Given the description of an element on the screen output the (x, y) to click on. 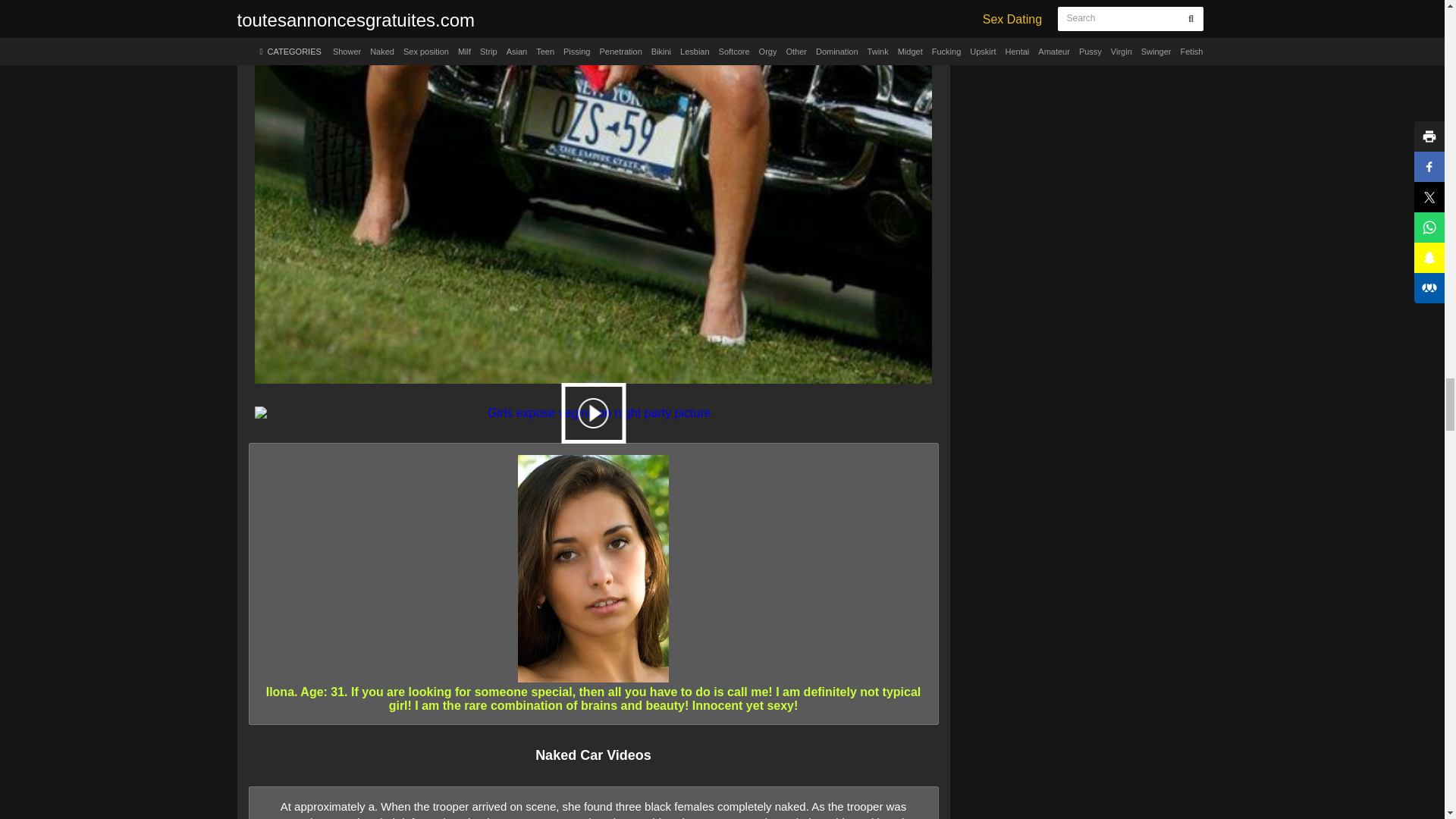
Bukkake video for sale bukkake (592, 412)
